Given the description of an element on the screen output the (x, y) to click on. 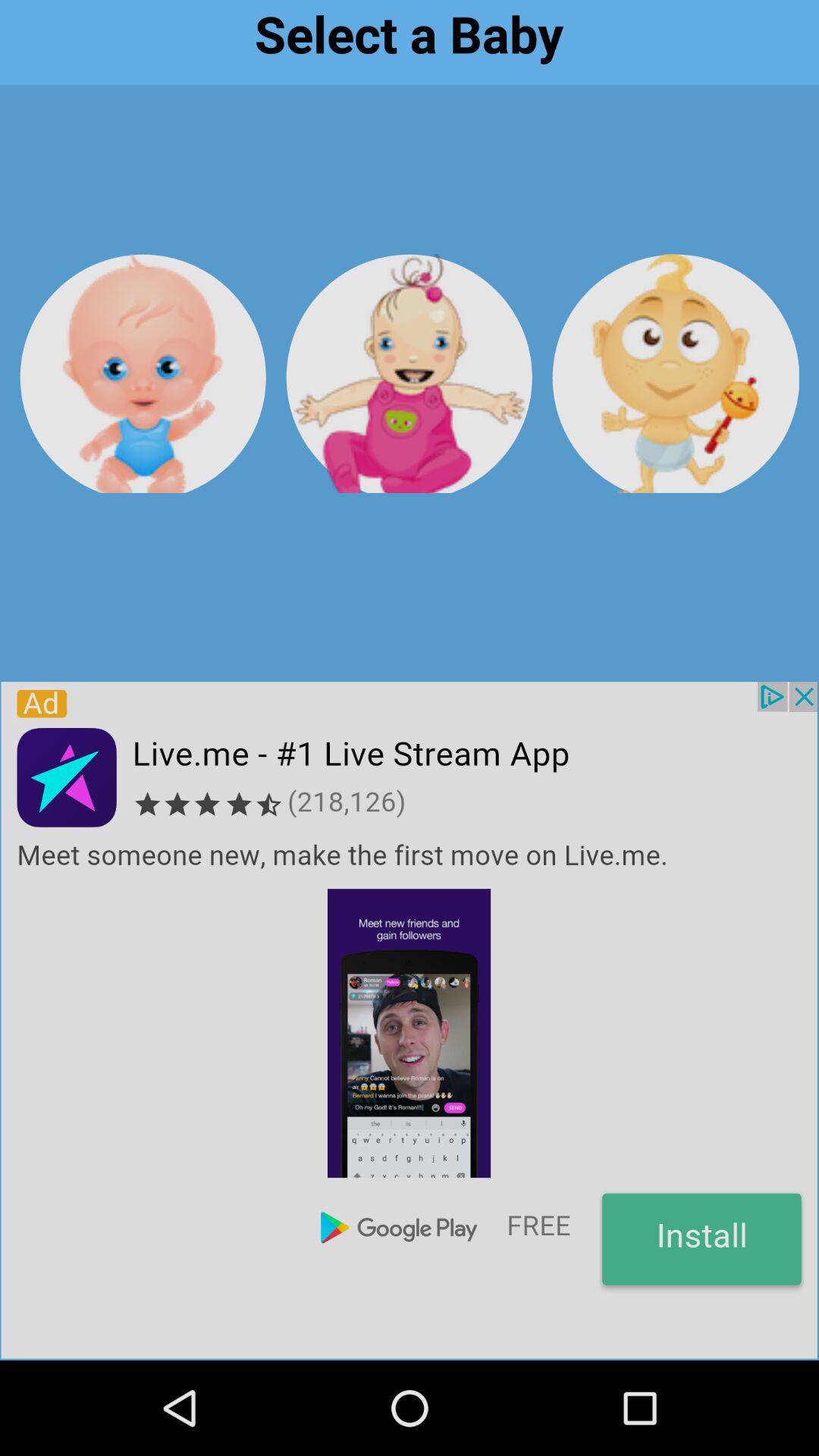
choose baby (142, 373)
